Given the description of an element on the screen output the (x, y) to click on. 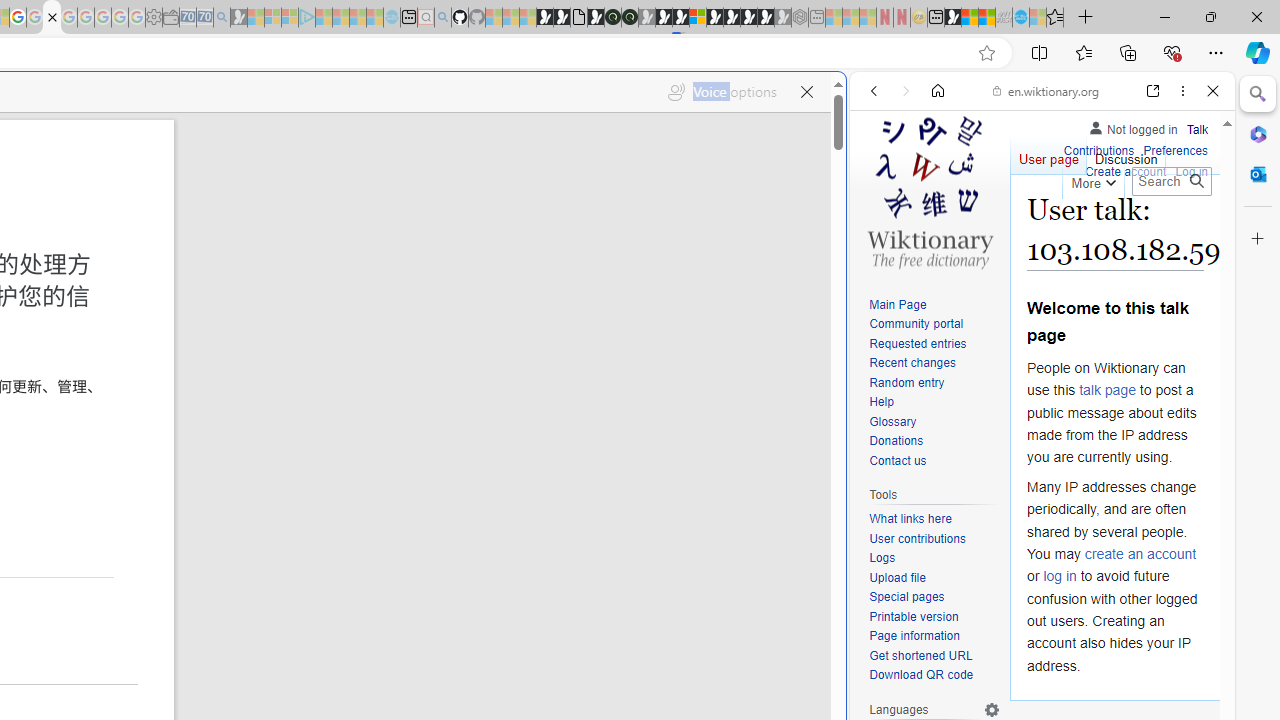
Search the web (1051, 137)
Play Cave FRVR in your browser | Games from Microsoft Start (343, 426)
Glossary (892, 421)
Go (1196, 181)
Recent changes (934, 363)
Donations (896, 441)
Tabs you've opened (276, 265)
Contact us (897, 460)
talk page (1107, 390)
